Given the description of an element on the screen output the (x, y) to click on. 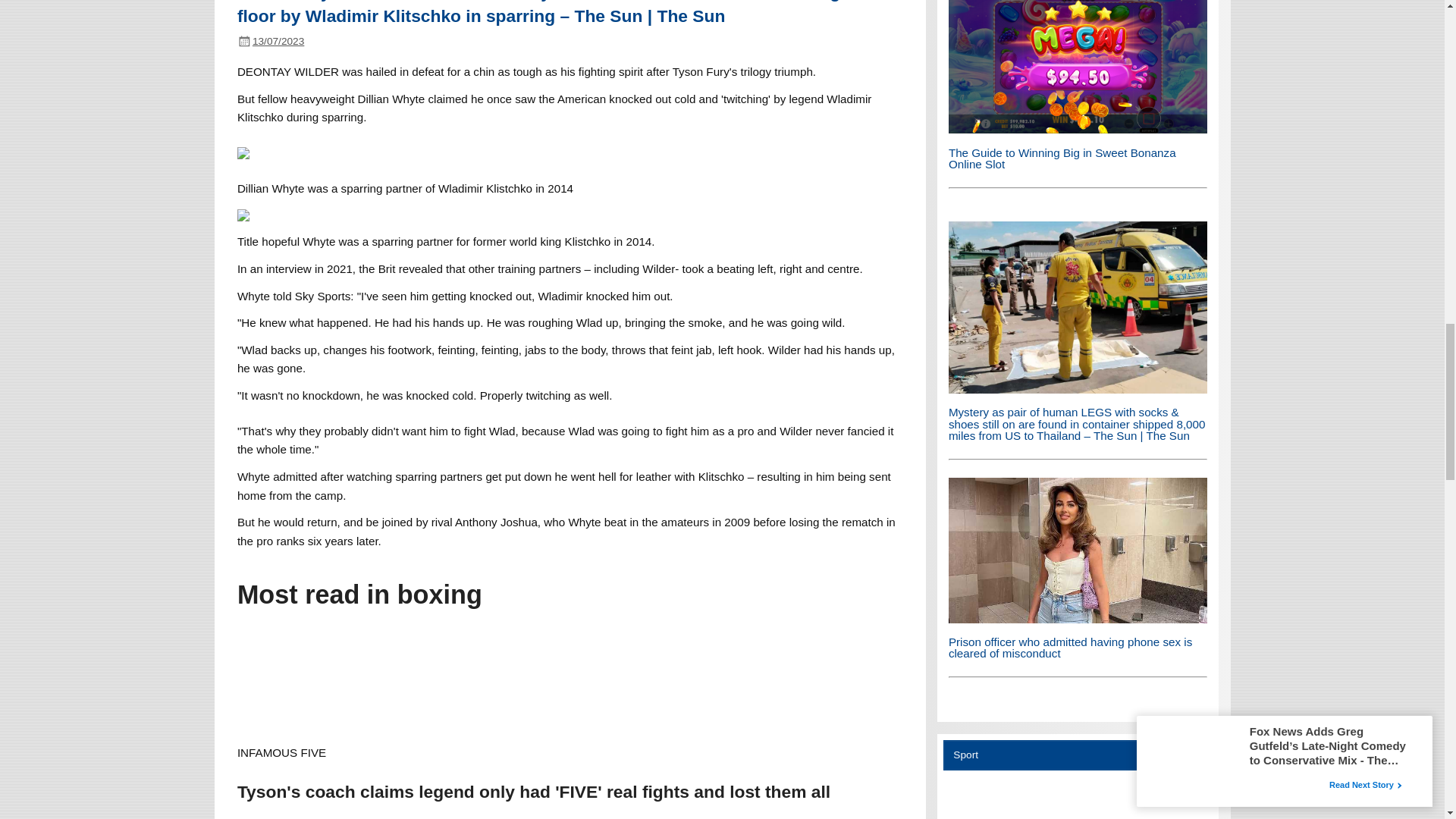
22:10 (277, 41)
The Guide to Winning Big in Sweet Bonanza Online Slot (1062, 158)
